Given the description of an element on the screen output the (x, y) to click on. 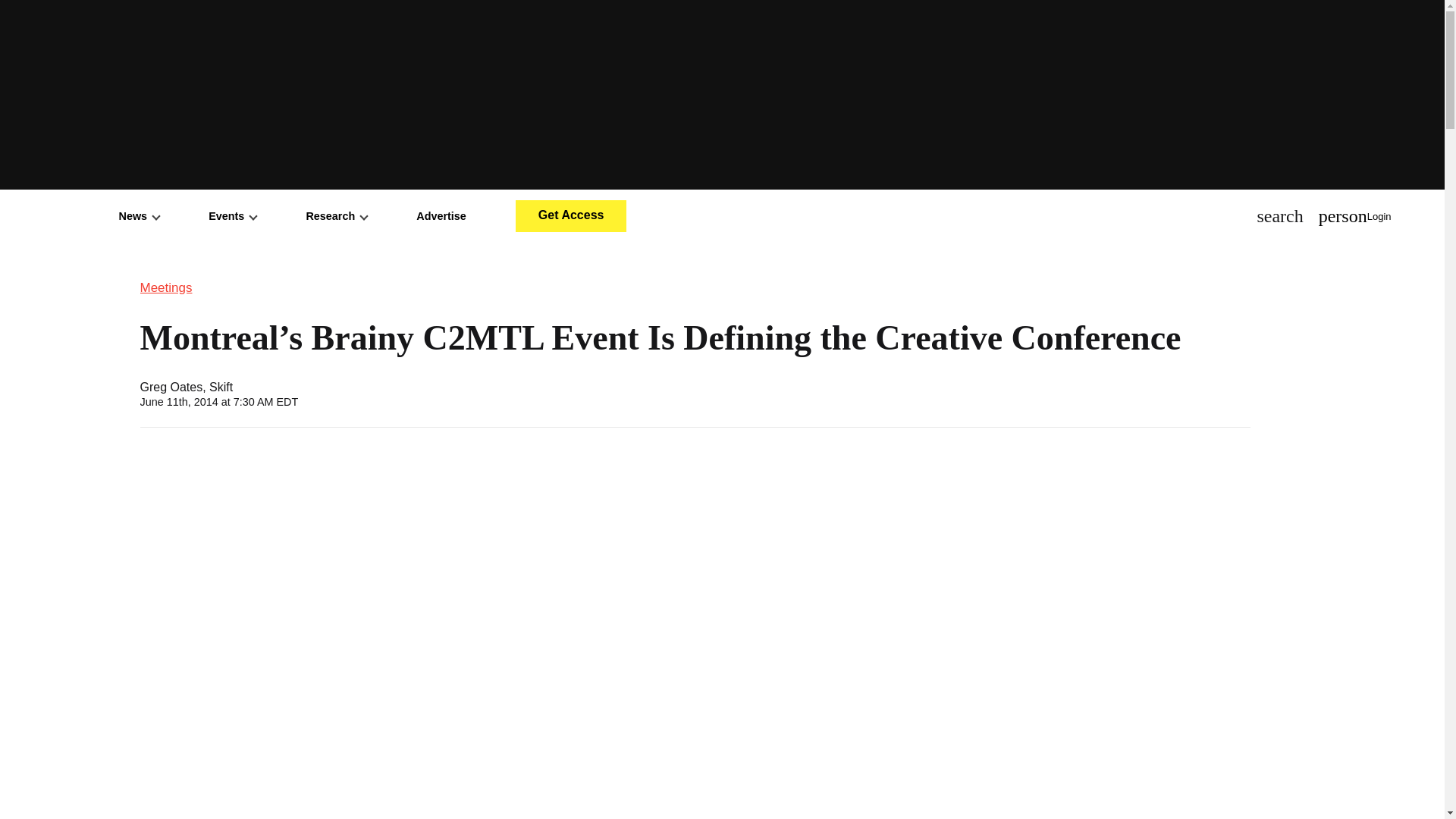
Research (335, 215)
News (139, 215)
Events (232, 215)
